Given the description of an element on the screen output the (x, y) to click on. 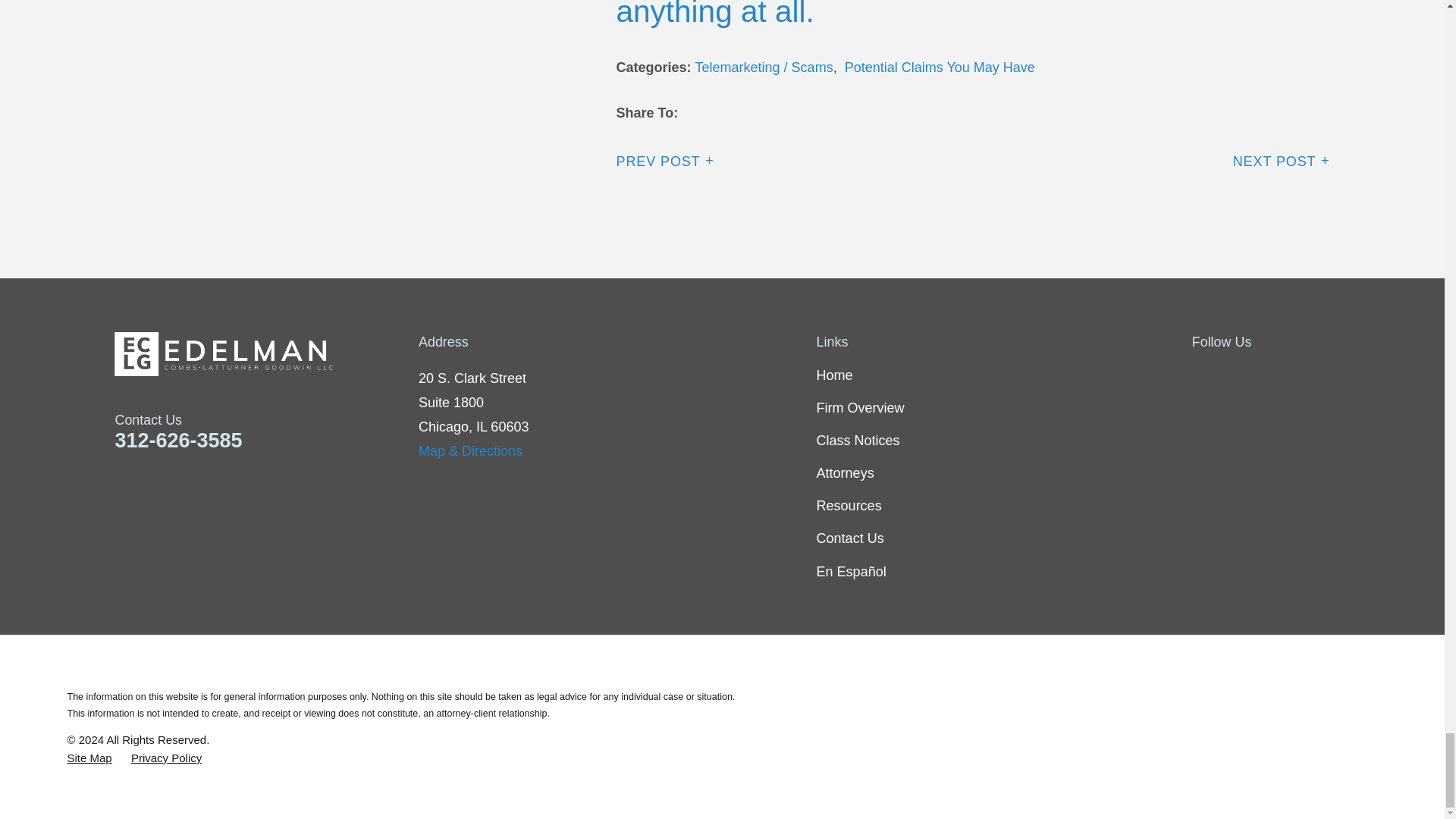
Yelp (1280, 375)
Home (267, 353)
Google Business Profile (1319, 375)
Twitter (1240, 375)
Facebook (1201, 375)
